Given the description of an element on the screen output the (x, y) to click on. 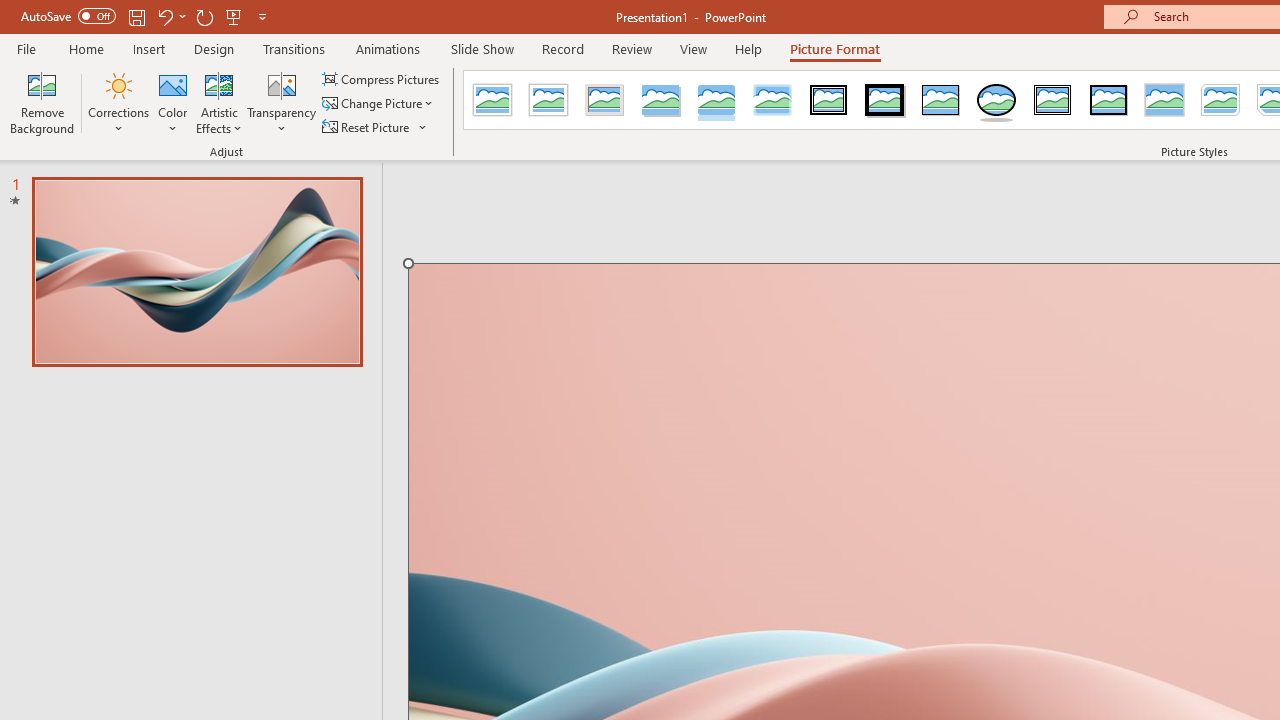
Quick Access Toolbar (145, 16)
File Tab (26, 48)
Home (86, 48)
Simple Frame, White (492, 100)
Compress Pictures... (381, 78)
Reset Picture (367, 126)
Slide (196, 271)
Artistic Effects (219, 102)
Undo (164, 15)
Record (562, 48)
Remove Background (41, 102)
Color (173, 102)
Compound Frame, Black (1053, 100)
Transitions (294, 48)
Undo (170, 15)
